Given the description of an element on the screen output the (x, y) to click on. 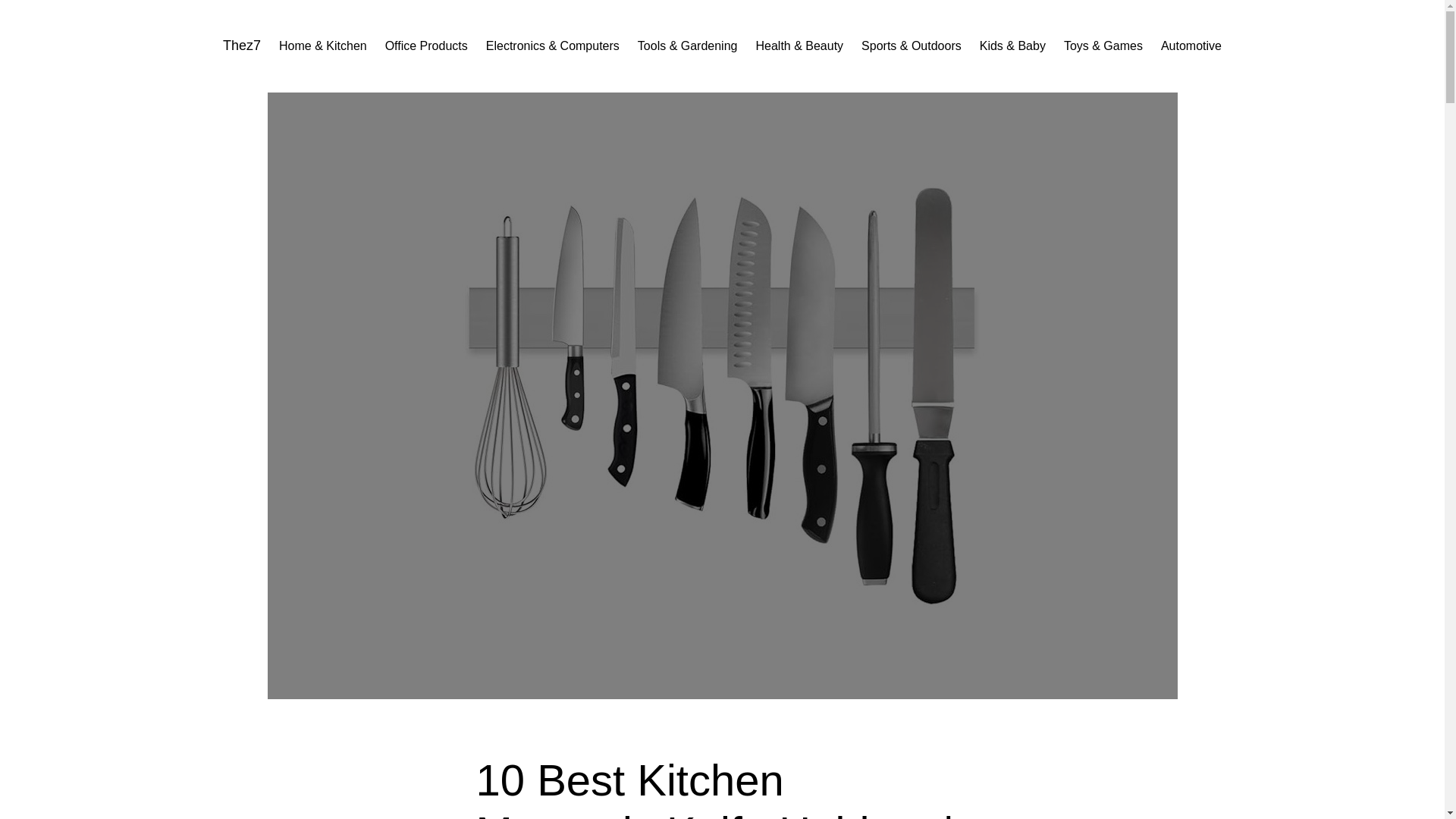
Automotive (1190, 46)
Thez7 (241, 45)
Office Products (426, 46)
